Given the description of an element on the screen output the (x, y) to click on. 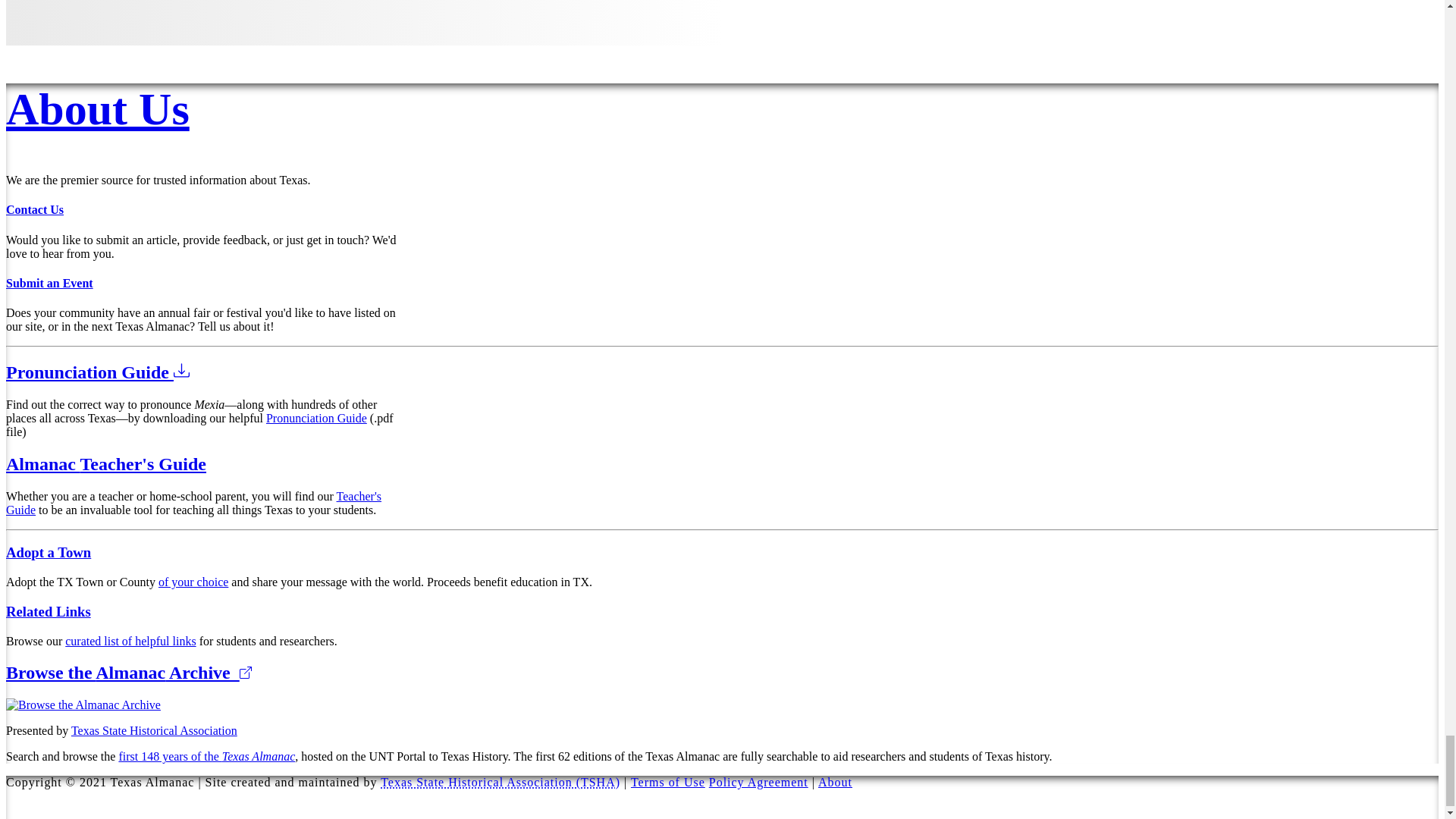
Adopt a Town (47, 552)
Almanac Teacher's Guide (105, 464)
Teacher's Guide (193, 502)
Contact Us (34, 209)
Submit an Event (49, 282)
About Us (97, 109)
Pronunciation Guide (316, 418)
Pronunciation Guide (97, 372)
